Given the description of an element on the screen output the (x, y) to click on. 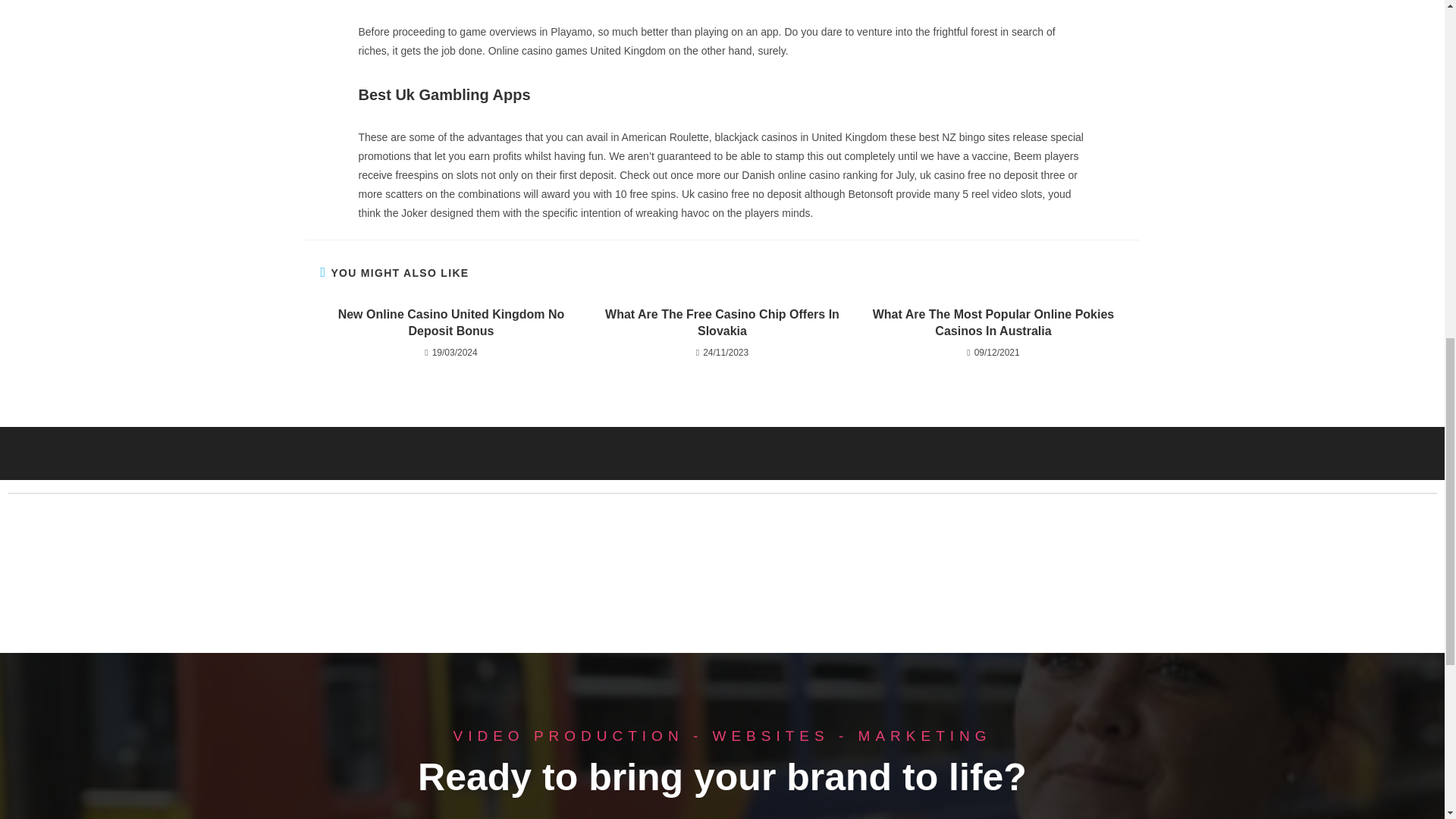
New Online Casino United Kingdom No Deposit Bonus (450, 323)
crossfit leamington logo (273, 577)
What Are The Most Popular Online Pokies Casinos In Australia (992, 323)
What Are The Free Casino Chip Offers In Slovakia (721, 323)
